Given the description of an element on the screen output the (x, y) to click on. 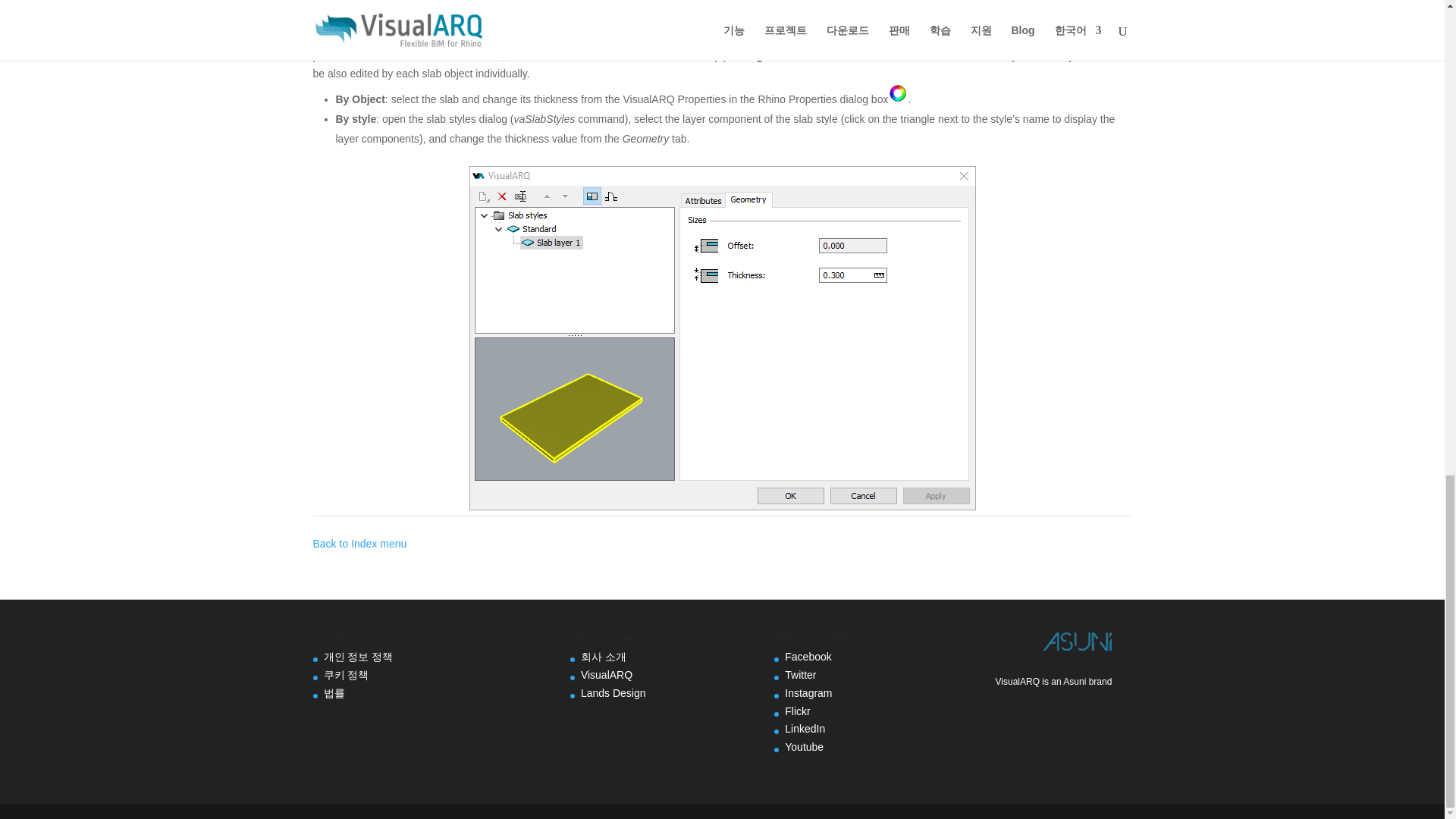
Facebook (807, 656)
Flickr (796, 711)
VisualARQ (605, 674)
Lands Design (613, 693)
Instagram (807, 693)
Twitter (799, 674)
Back to Index menu (359, 543)
